Given the description of an element on the screen output the (x, y) to click on. 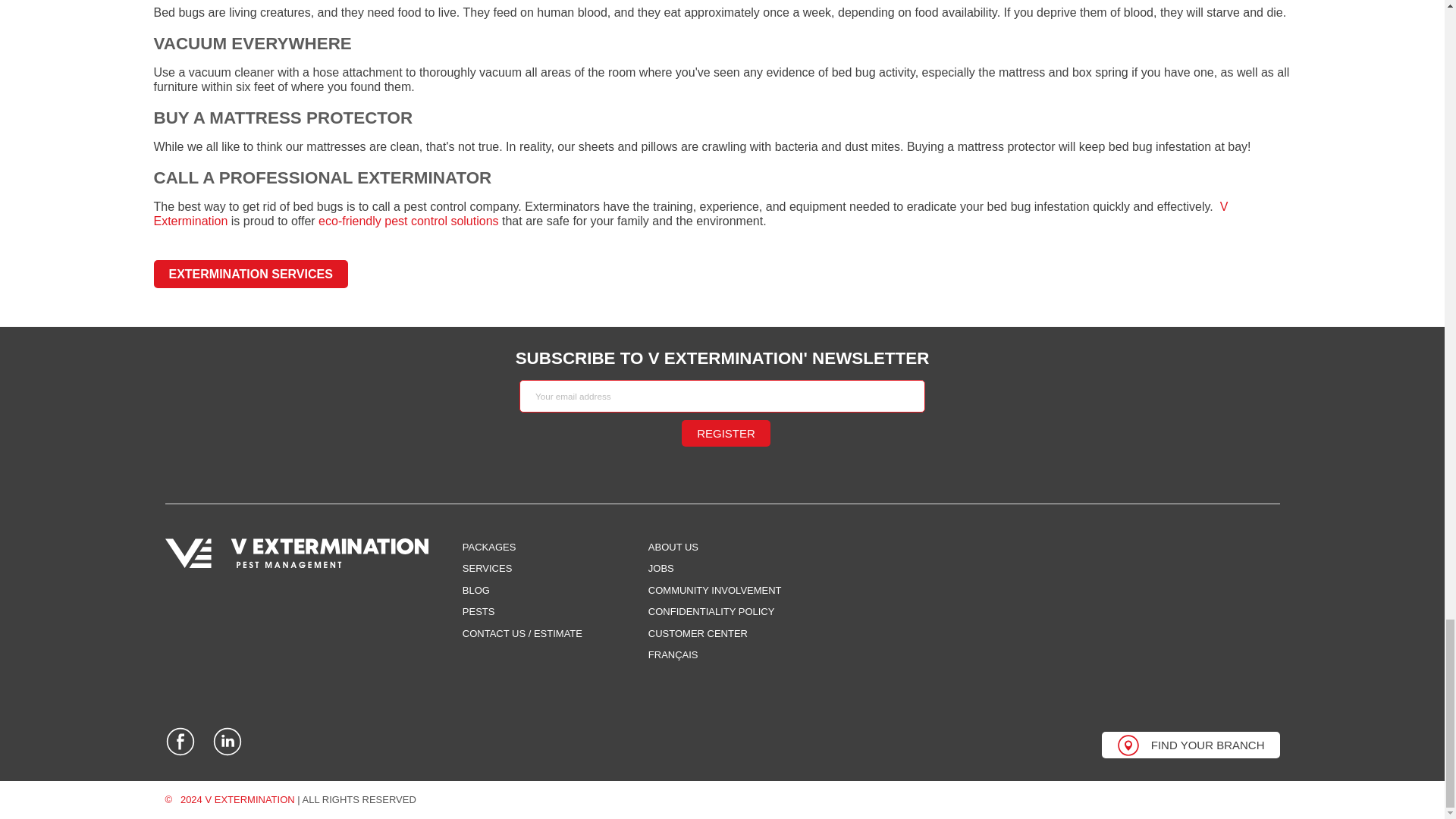
BLOG (476, 590)
PACKAGES (489, 546)
eco-friendly pest control solutions (407, 220)
REGISTER (725, 433)
V Extermination (689, 213)
EXTERMINATION SERVICES (249, 274)
SERVICES (487, 568)
